Given the description of an element on the screen output the (x, y) to click on. 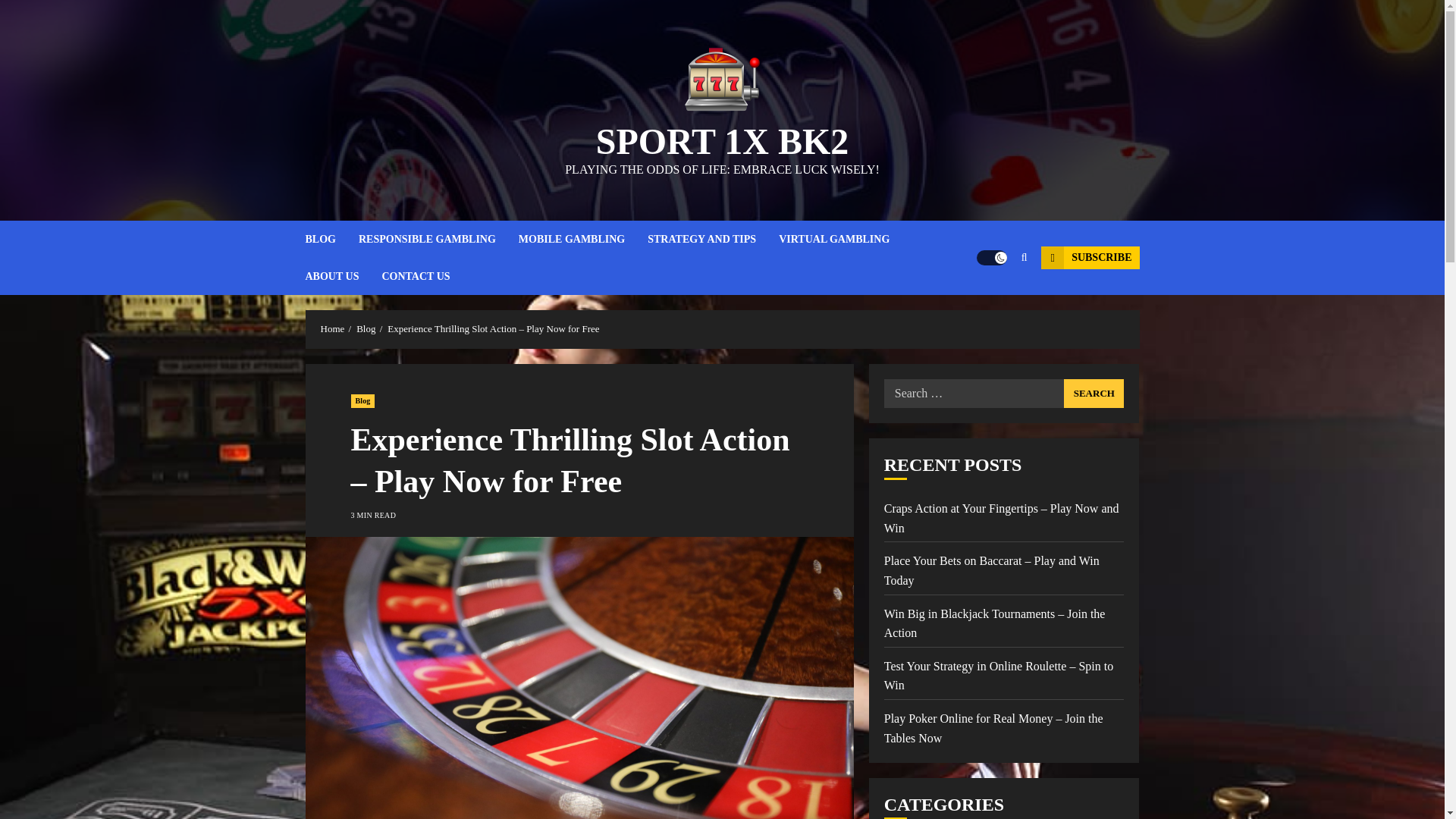
Blog (362, 400)
CONTACT US (415, 275)
Search (1094, 393)
Search (1094, 393)
Search (1094, 393)
RESPONSIBLE GAMBLING (438, 238)
SPORT 1X BK2 (721, 141)
Home (331, 328)
VIRTUAL GAMBLING (845, 238)
BLOG (331, 238)
MOBILE GAMBLING (582, 238)
ABOUT US (342, 275)
STRATEGY AND TIPS (712, 238)
Search (994, 303)
SUBSCRIBE (1089, 257)
